Given the description of an element on the screen output the (x, y) to click on. 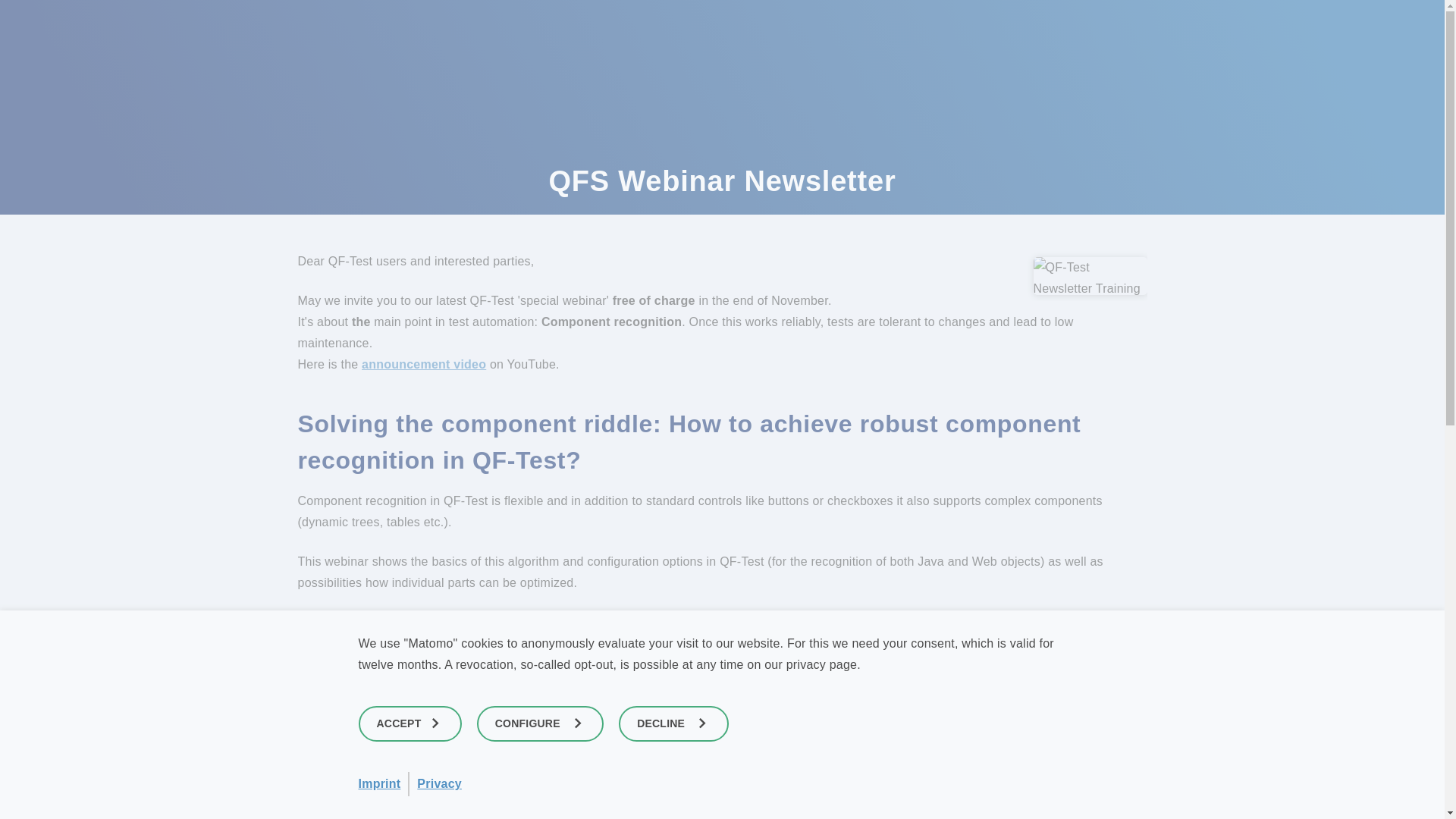
Send email for registration (717, 816)
Announcement video Scripting special webinar (423, 364)
CONFIGURE (540, 723)
announcement video (423, 364)
DECLINE (673, 723)
CONFIGURE (540, 723)
ACCEPT (409, 723)
